Given the description of an element on the screen output the (x, y) to click on. 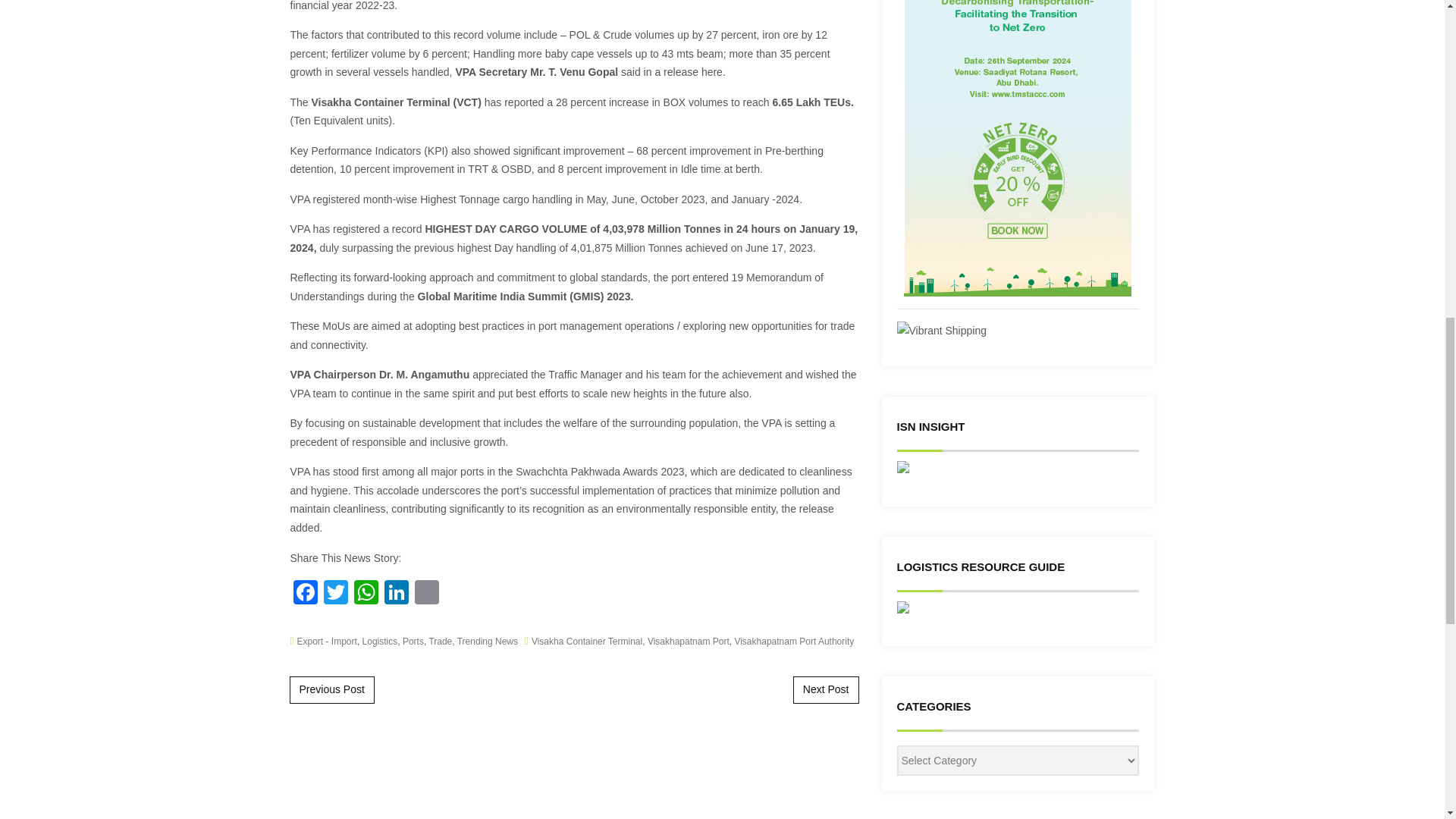
Email (425, 593)
WhatsApp (365, 593)
Facebook (304, 593)
LinkedIn (395, 593)
Twitter (335, 593)
